Given the description of an element on the screen output the (x, y) to click on. 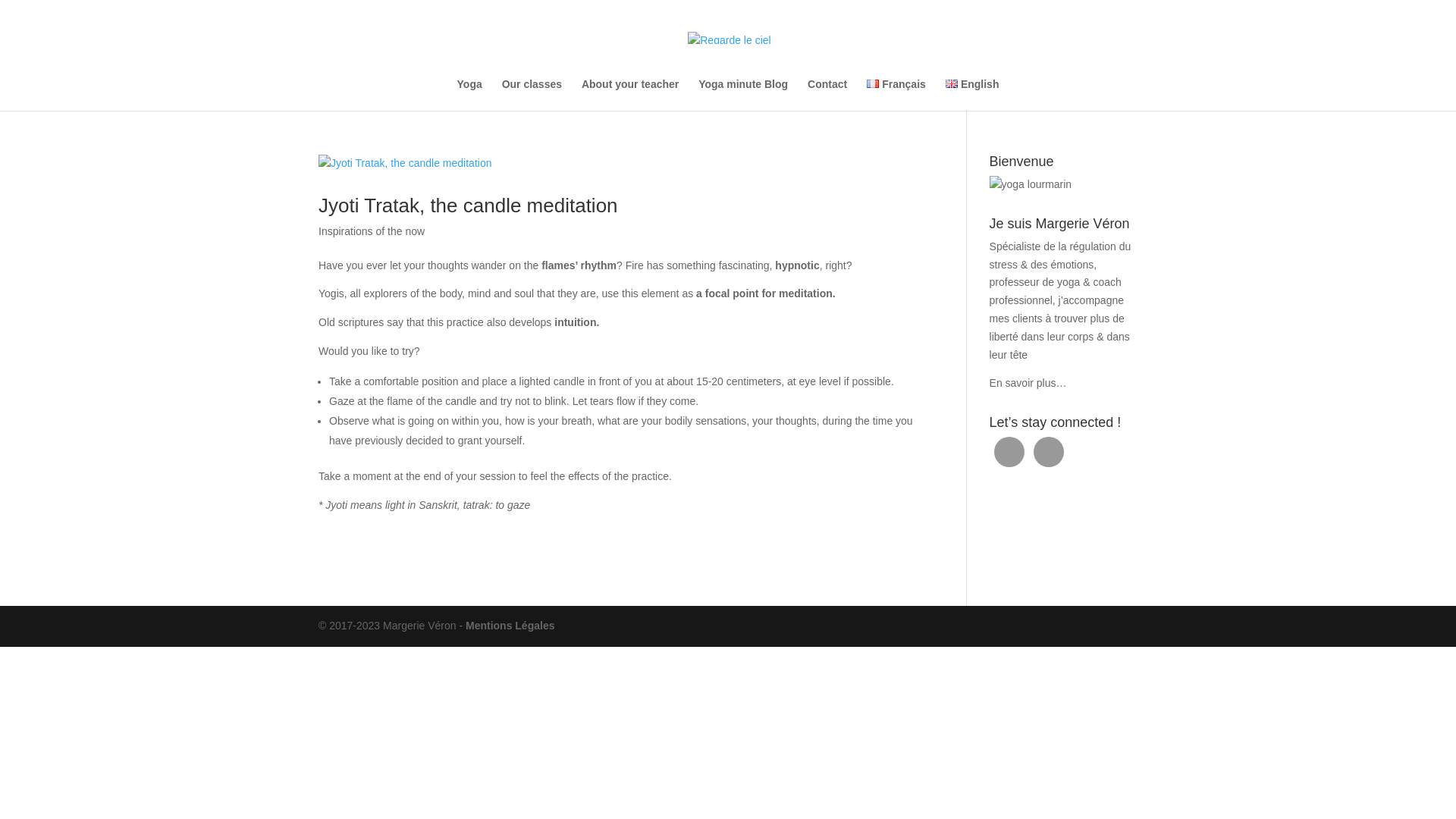
Contact (827, 94)
Yoga minute Blog (742, 94)
English (971, 94)
About your teacher (629, 94)
Jyoti Tratak, the candle meditation (467, 205)
Our classes (532, 94)
Inspirations of the now (371, 231)
